Given the description of an element on the screen output the (x, y) to click on. 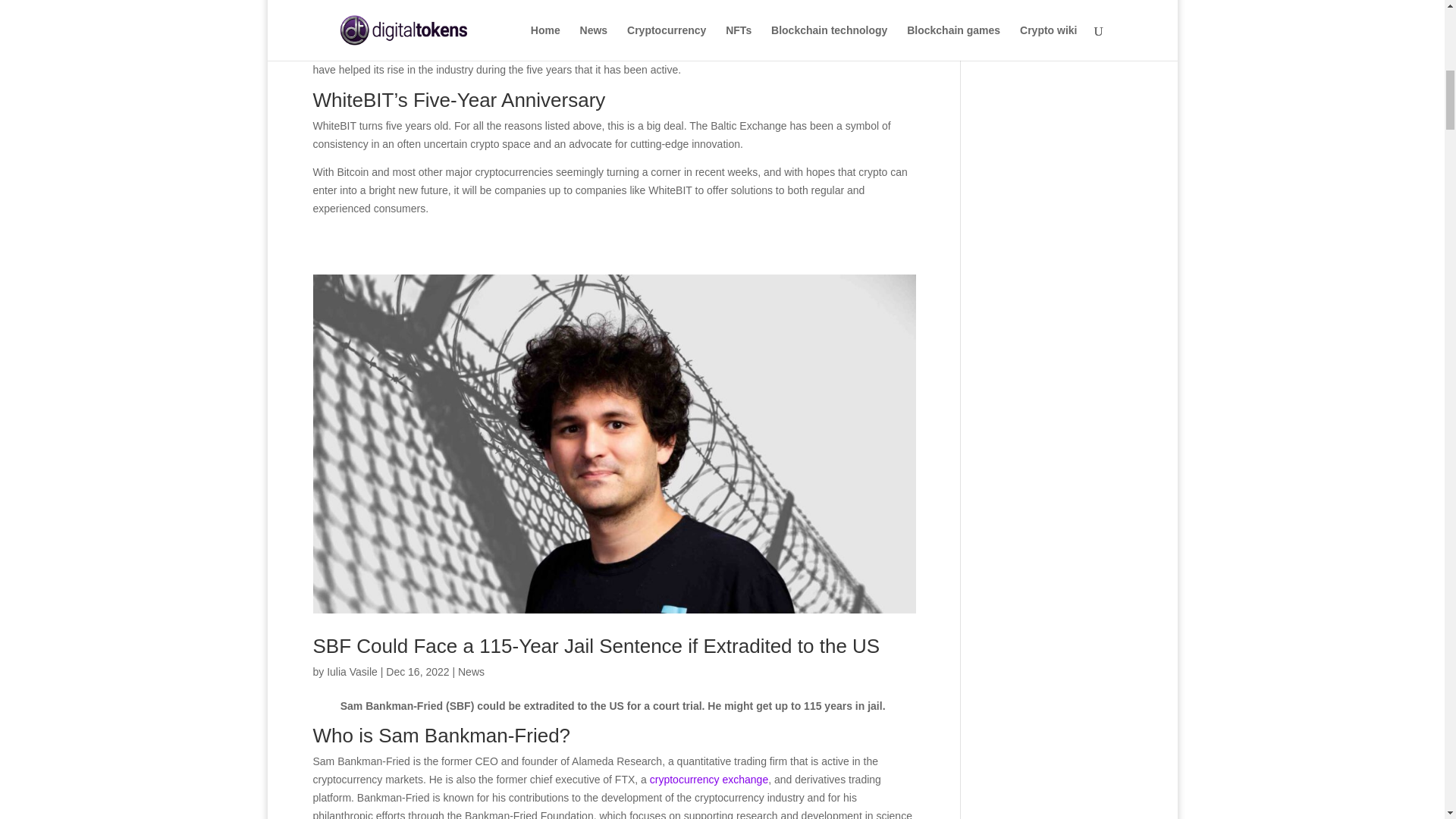
Posts by Iulia Vasile (351, 671)
Iulia Vasile (351, 671)
News (471, 671)
cryptocurrency exchange (708, 779)
